Given the description of an element on the screen output the (x, y) to click on. 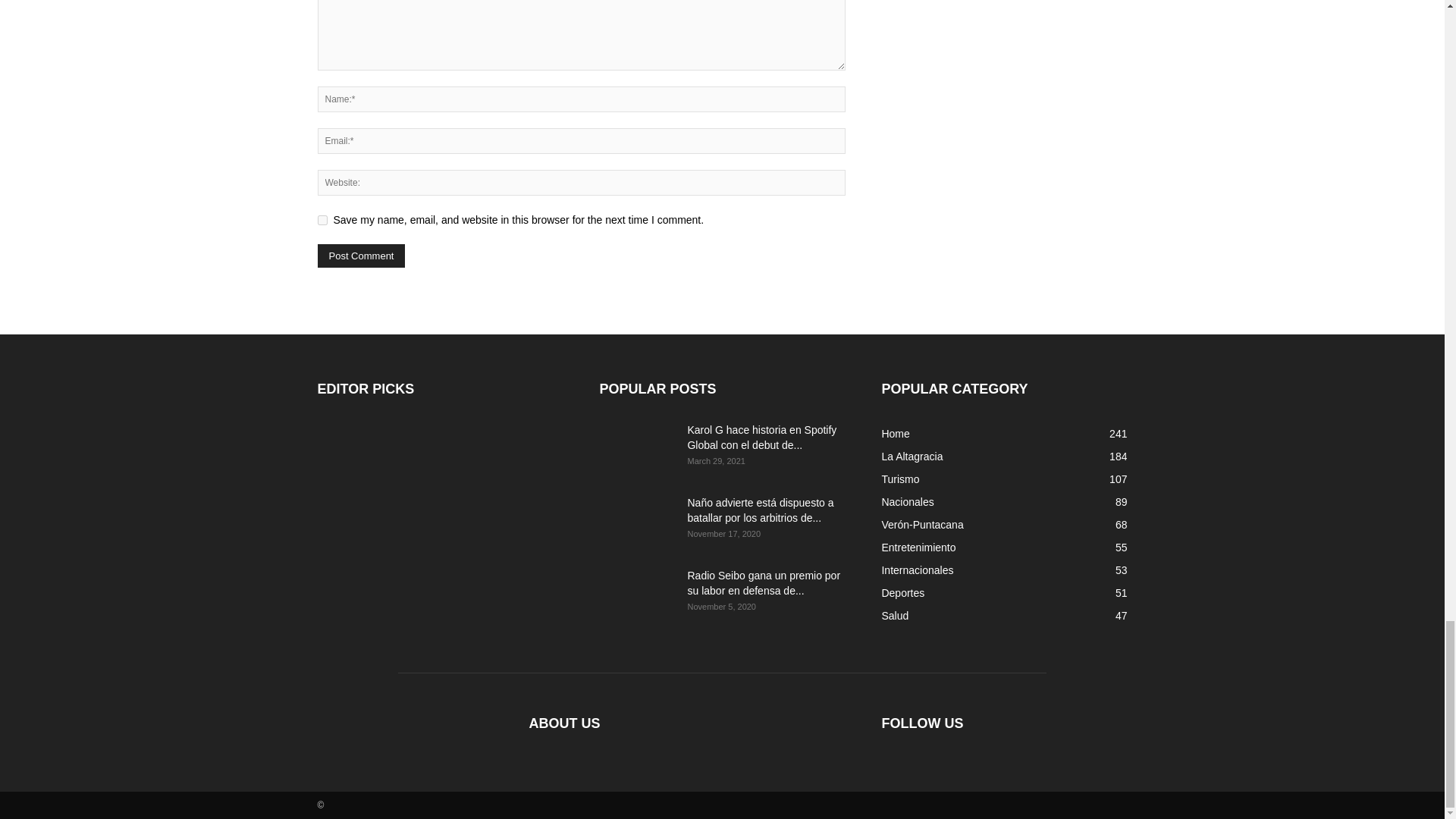
Post Comment (360, 255)
yes (321, 220)
